Given the description of an element on the screen output the (x, y) to click on. 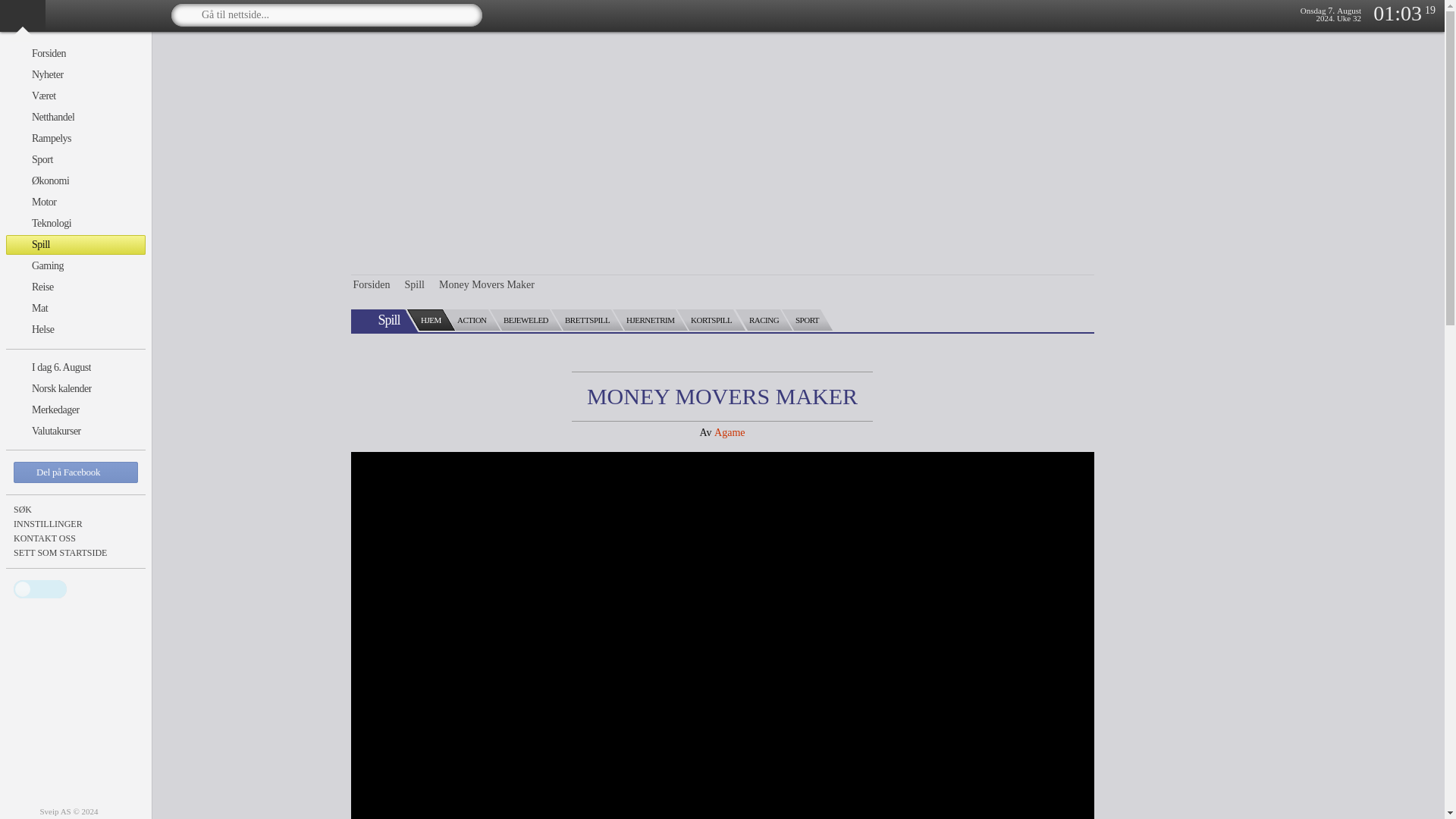
INNSTILLINGER (75, 523)
SETT SOM STARTSIDE (75, 552)
Sport (75, 159)
Mat (75, 308)
I dag 6. August (75, 367)
Helse (75, 329)
Forsiden (75, 53)
Reise (75, 287)
KONTAKT OSS (75, 538)
Rampelys (75, 138)
Valutakurser (75, 431)
Spill (75, 244)
Merkedager (75, 410)
Netthandel (75, 117)
Nyheter (75, 75)
